Given the description of an element on the screen output the (x, y) to click on. 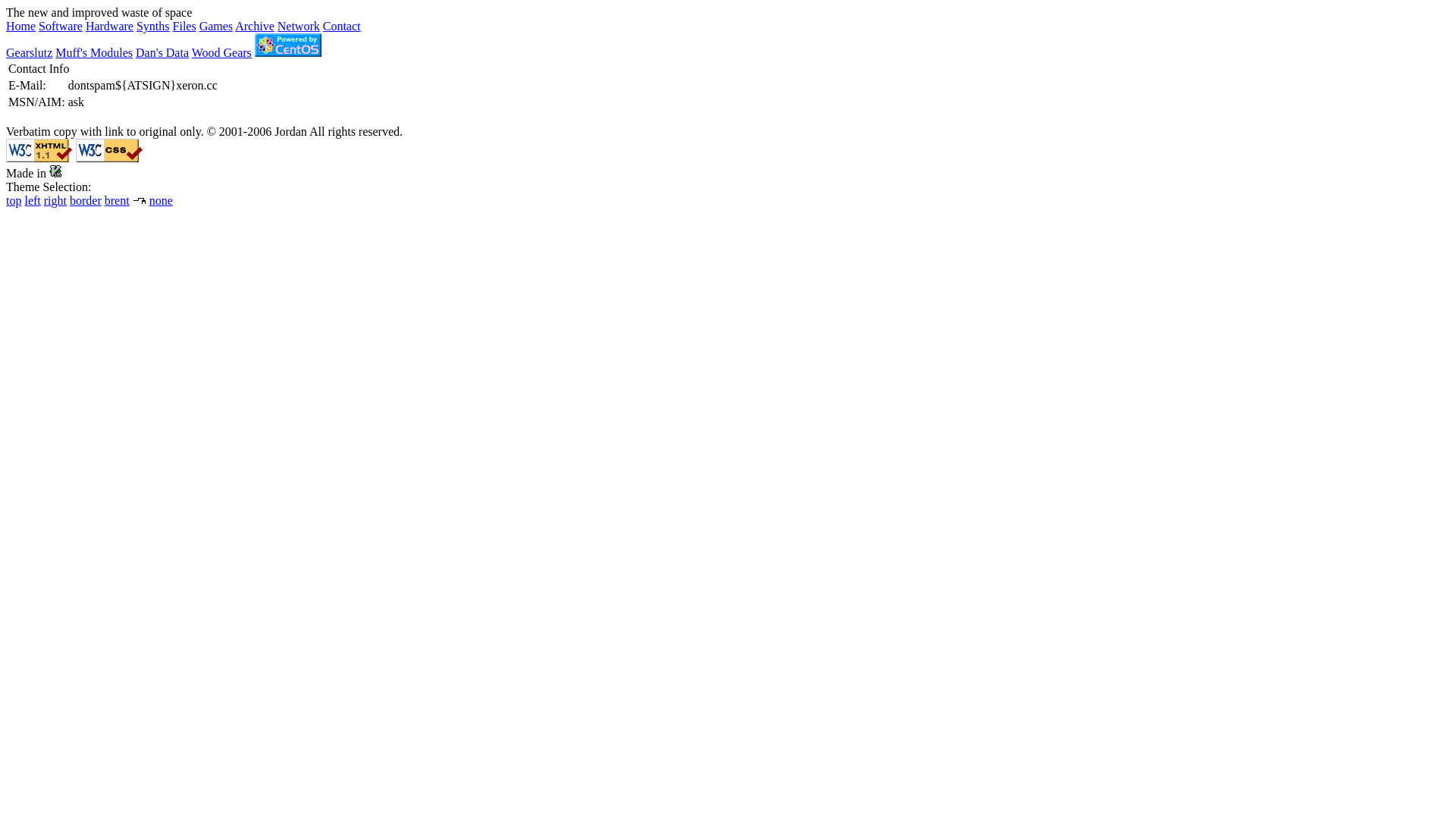
top Element type: text (13, 200)
left Element type: text (32, 200)
Gearslutz Element type: text (29, 52)
Archive Element type: text (254, 25)
Software Element type: text (60, 25)
border Element type: text (85, 200)
brent Element type: text (116, 200)
Synths Element type: text (152, 25)
Dan's Data Element type: text (161, 52)
right Element type: text (54, 200)
Hardware Element type: text (109, 25)
Home Element type: text (20, 25)
none Element type: text (160, 200)
Contact Element type: text (341, 25)
Network Element type: text (298, 25)
Wood Gears Element type: text (221, 52)
Files Element type: text (184, 25)
Muff's Modules Element type: text (93, 52)
Games Element type: text (215, 25)
